Given the description of an element on the screen output the (x, y) to click on. 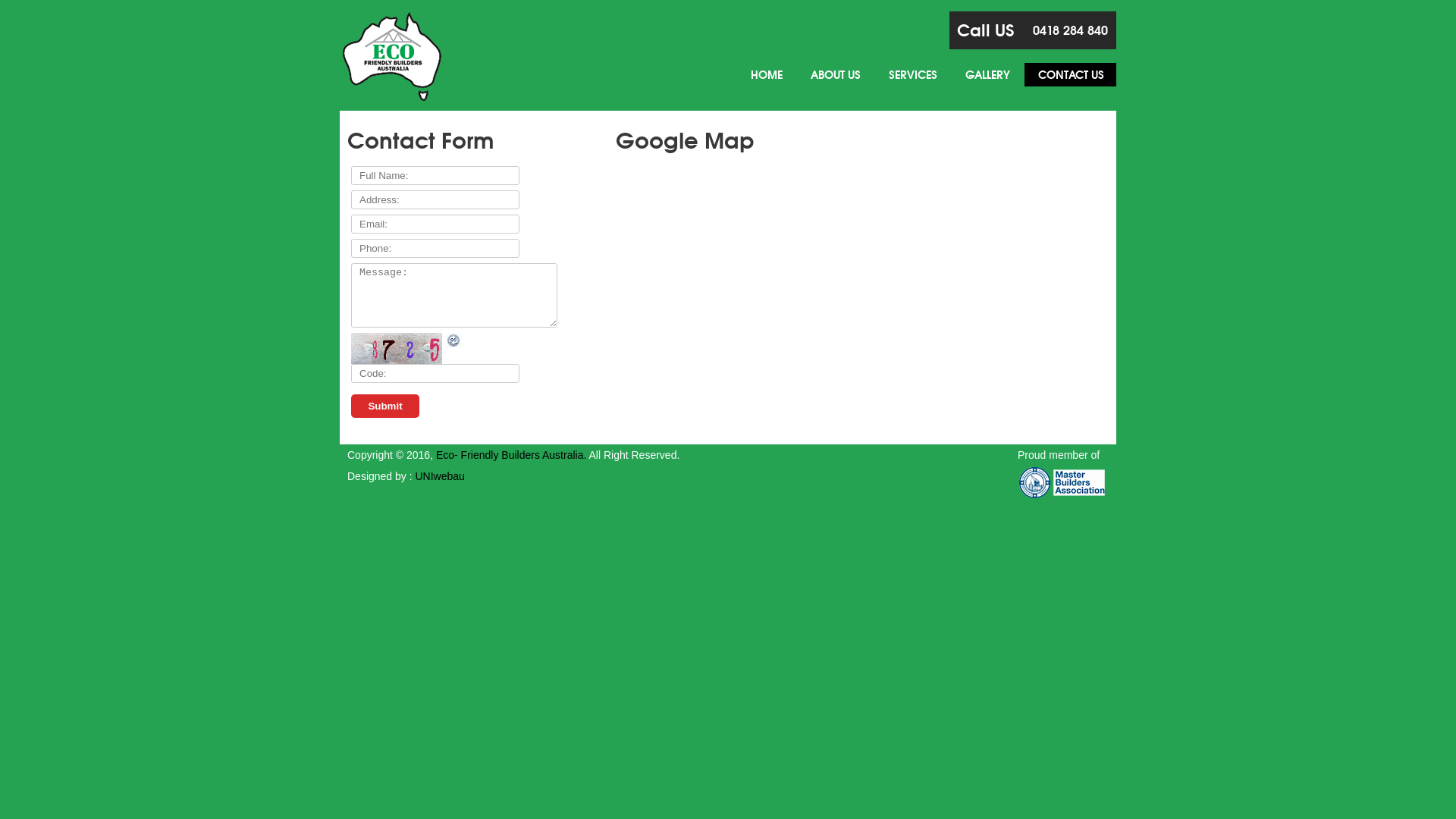
UNIwebau Element type: text (439, 476)
CONTACT US Element type: text (1070, 74)
ABOUT US Element type: text (835, 74)
GALLERY Element type: text (987, 74)
0418 284 840 Element type: text (1069, 29)
Submit Element type: text (385, 405)
SERVICES Element type: text (912, 74)
HOME Element type: text (766, 74)
Eco- Friendly Builders Australia. Element type: text (511, 454)
